Given the description of an element on the screen output the (x, y) to click on. 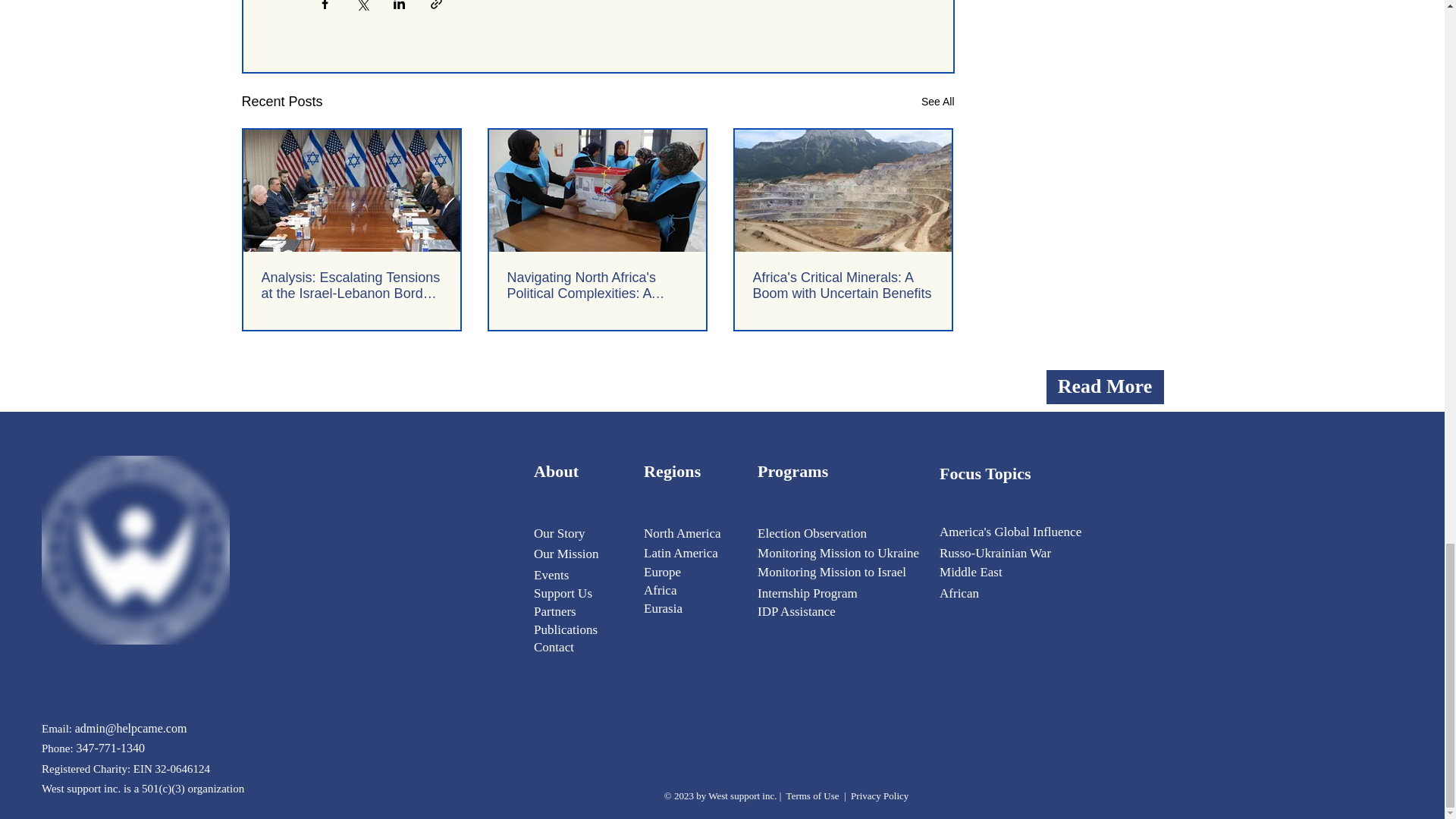
Read More (1104, 387)
North America (681, 533)
Support Us (563, 593)
About (556, 470)
Our Mission  (568, 552)
Europe (662, 572)
Africa's Critical Minerals: A Boom with Uncertain Benefits (842, 286)
Latin America (680, 553)
See All (938, 101)
Regions (671, 470)
Events (551, 575)
Our Story (559, 533)
Partners (555, 611)
Programs (792, 470)
